Given the description of an element on the screen output the (x, y) to click on. 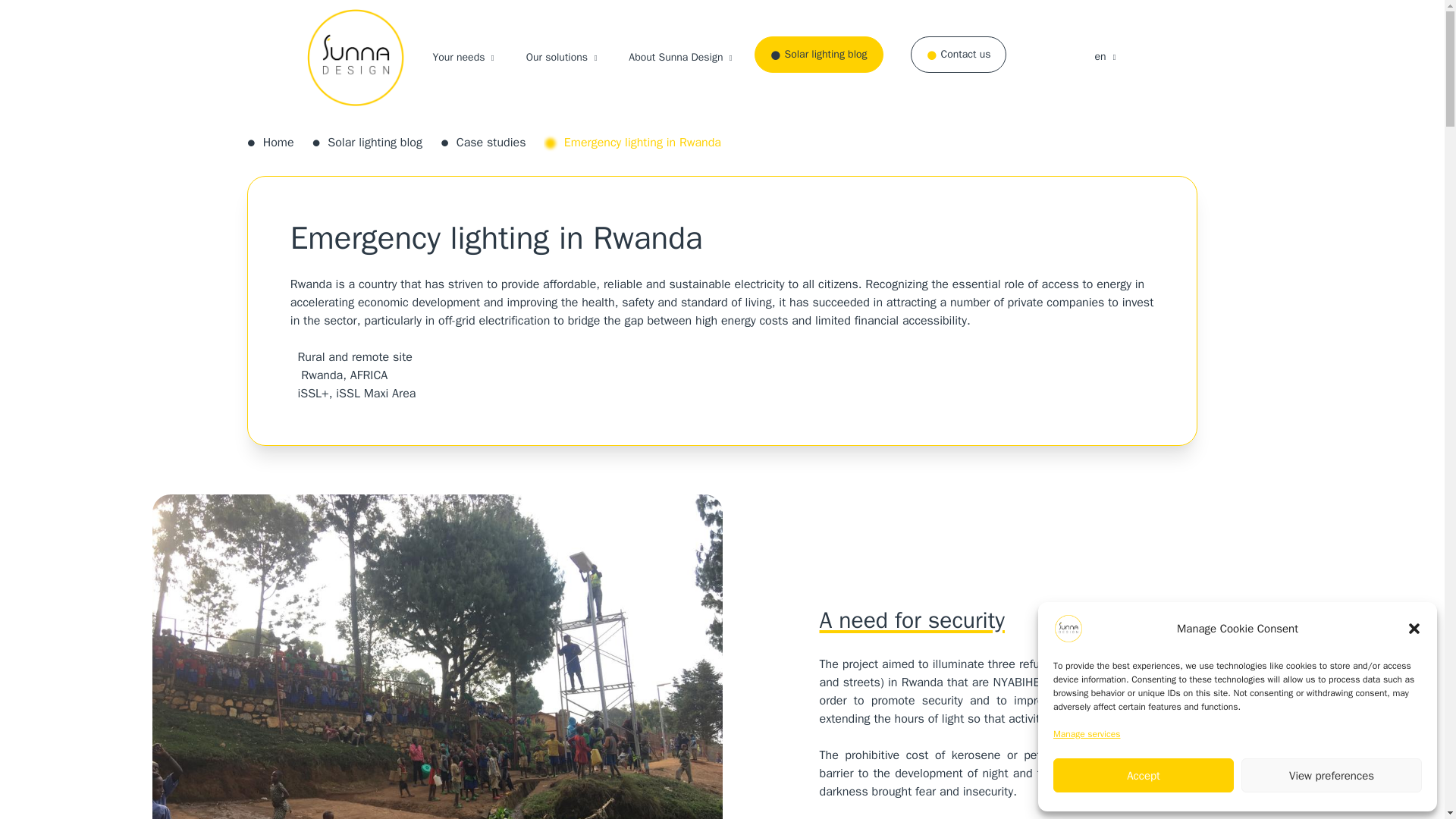
Your needs (458, 56)
Accept (1142, 775)
Manage services (1085, 733)
View preferences (1331, 775)
